Given the description of an element on the screen output the (x, y) to click on. 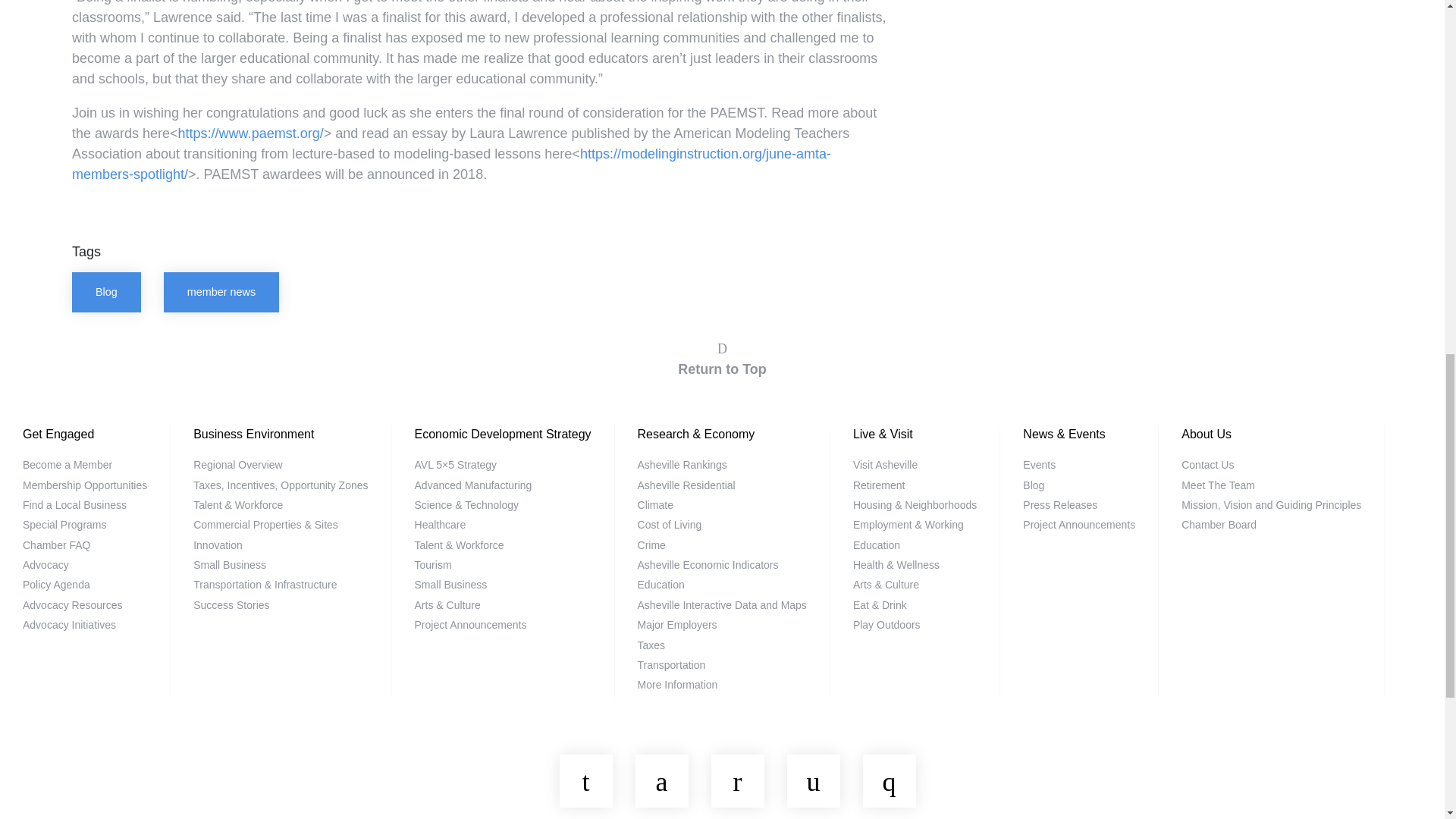
Get Engaged (58, 433)
Become a Member (67, 464)
member news (221, 291)
Return to Top (722, 357)
Blog (106, 291)
Return to Top (722, 357)
